Given the description of an element on the screen output the (x, y) to click on. 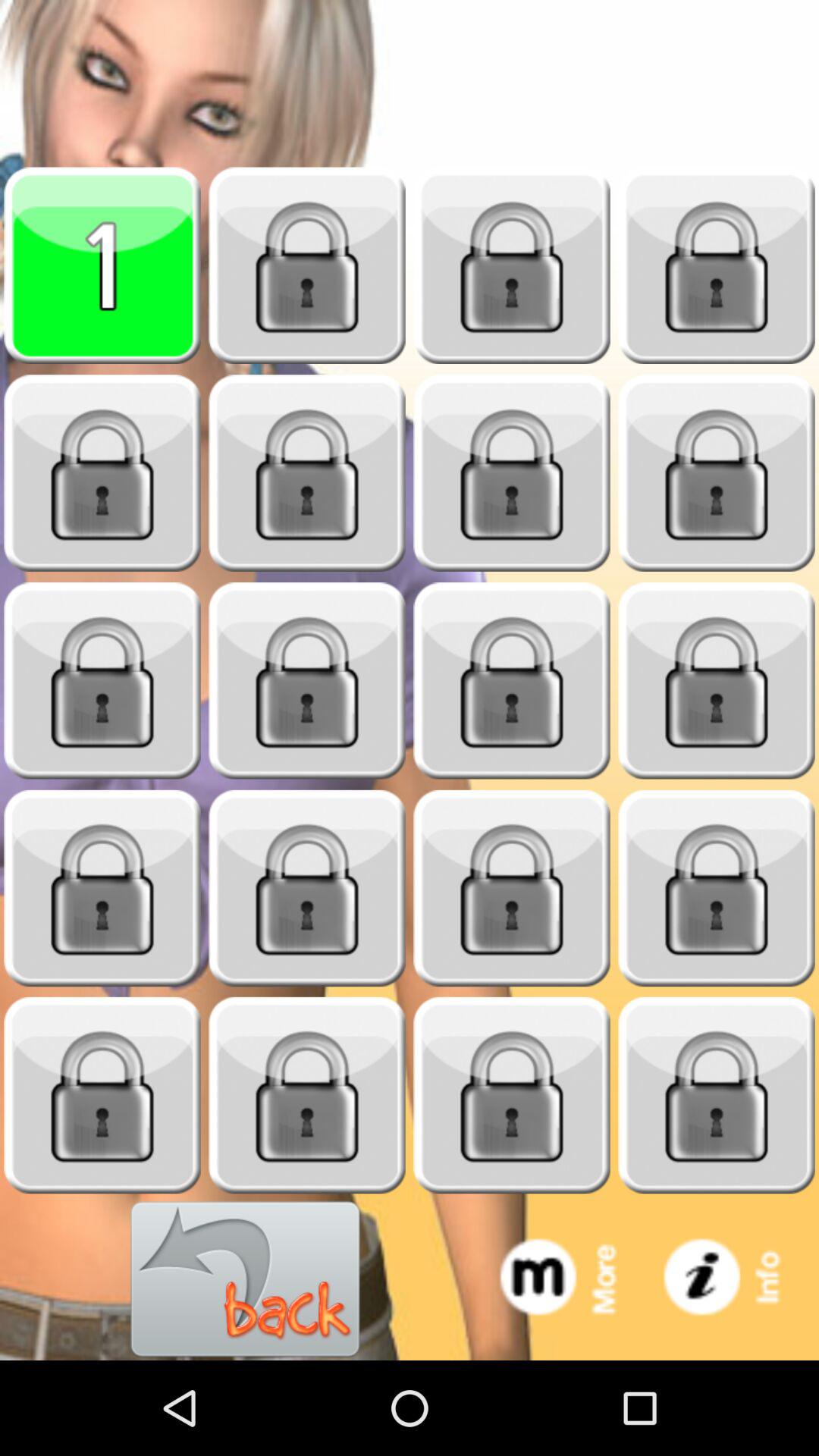
select option (102, 265)
